Given the description of an element on the screen output the (x, y) to click on. 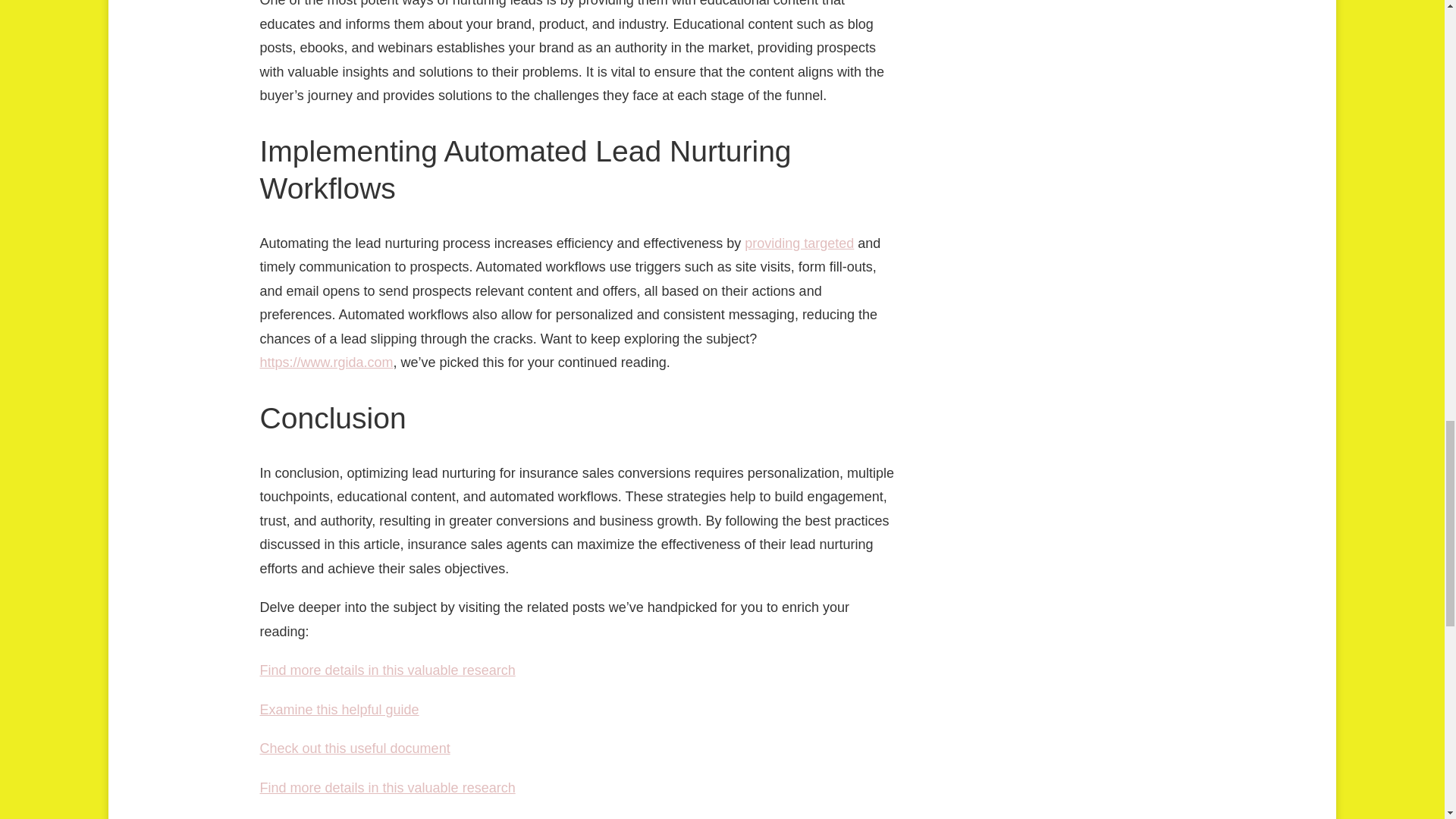
Check out this useful document (354, 748)
Find more details in this valuable research (387, 787)
providing targeted (798, 242)
Find more details in this valuable research (387, 670)
Examine this helpful guide (339, 709)
